Given the description of an element on the screen output the (x, y) to click on. 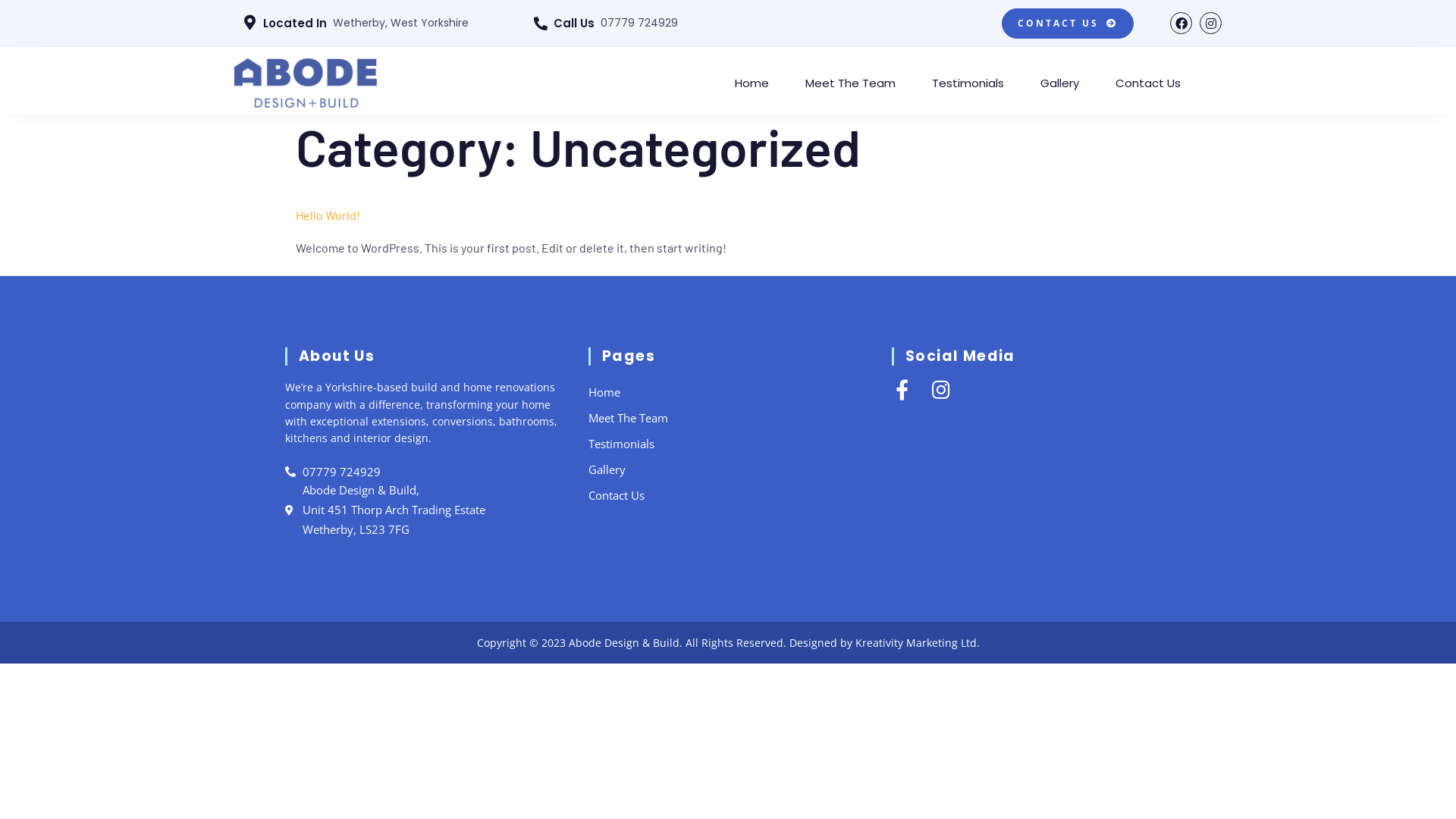
Meet The Team Element type: text (727, 417)
Gallery Element type: text (727, 469)
Hello World! Element type: text (327, 214)
07779 724929 Element type: text (424, 471)
Gallery Element type: text (1059, 83)
Home Element type: text (727, 391)
Testimonials Element type: text (727, 443)
Meet The Team Element type: text (850, 83)
Home Element type: text (751, 83)
CONTACT US Element type: text (1067, 23)
Contact Us Element type: text (1147, 83)
Testimonials Element type: text (967, 83)
Contact Us Element type: text (727, 495)
